Given the description of an element on the screen output the (x, y) to click on. 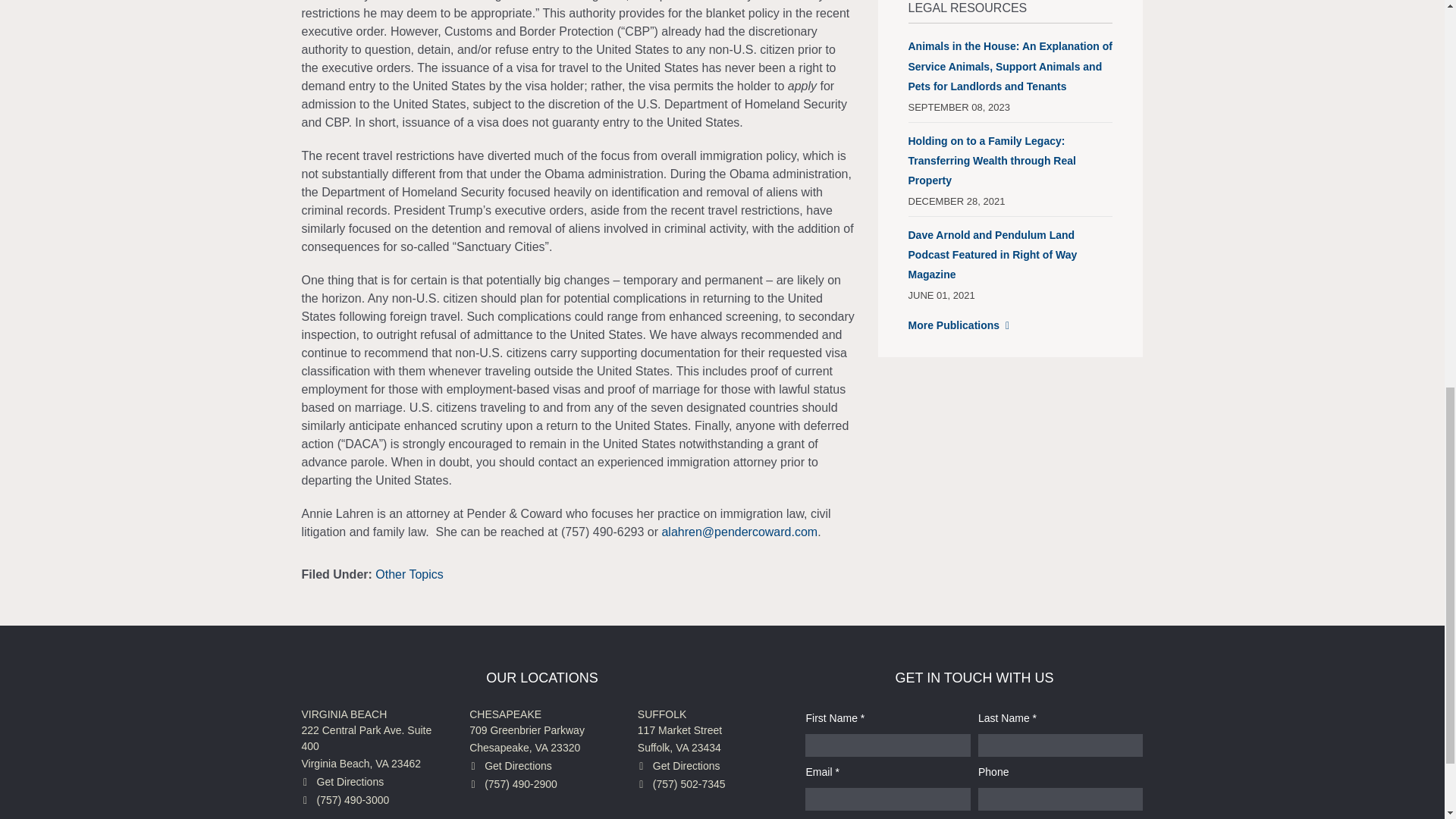
Go to the category page for Other Topics (409, 573)
